Given the description of an element on the screen output the (x, y) to click on. 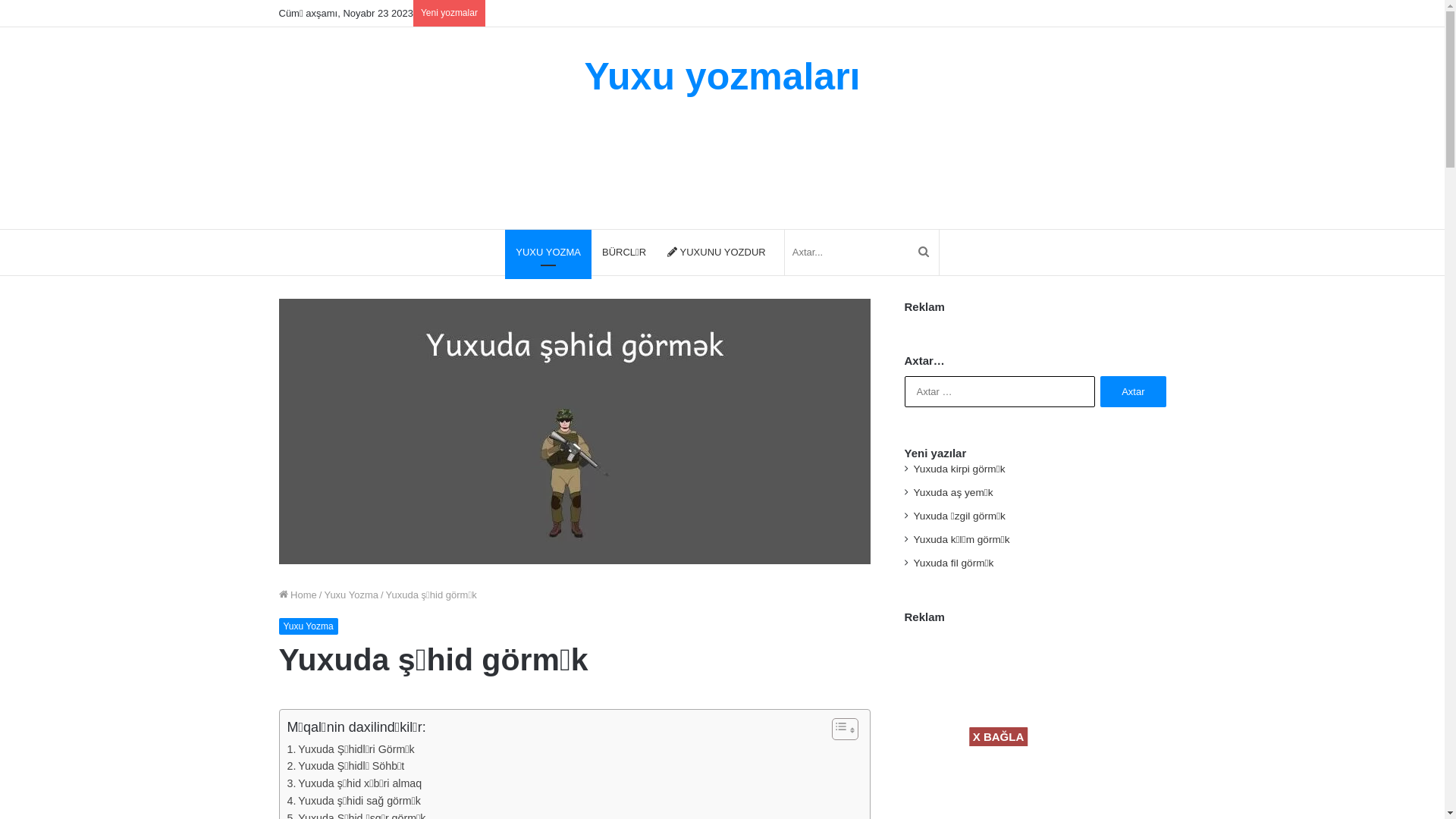
Axtar Element type: text (1132, 391)
Axtar... Element type: text (923, 252)
YUXUNU YOZDUR Element type: text (716, 252)
Yuxu Yozma Element type: text (350, 594)
Axtar... Element type: hover (861, 252)
Yuxu Yozma Element type: text (308, 626)
Home Element type: text (297, 594)
YUXU YOZMA Element type: text (548, 252)
